Given the description of an element on the screen output the (x, y) to click on. 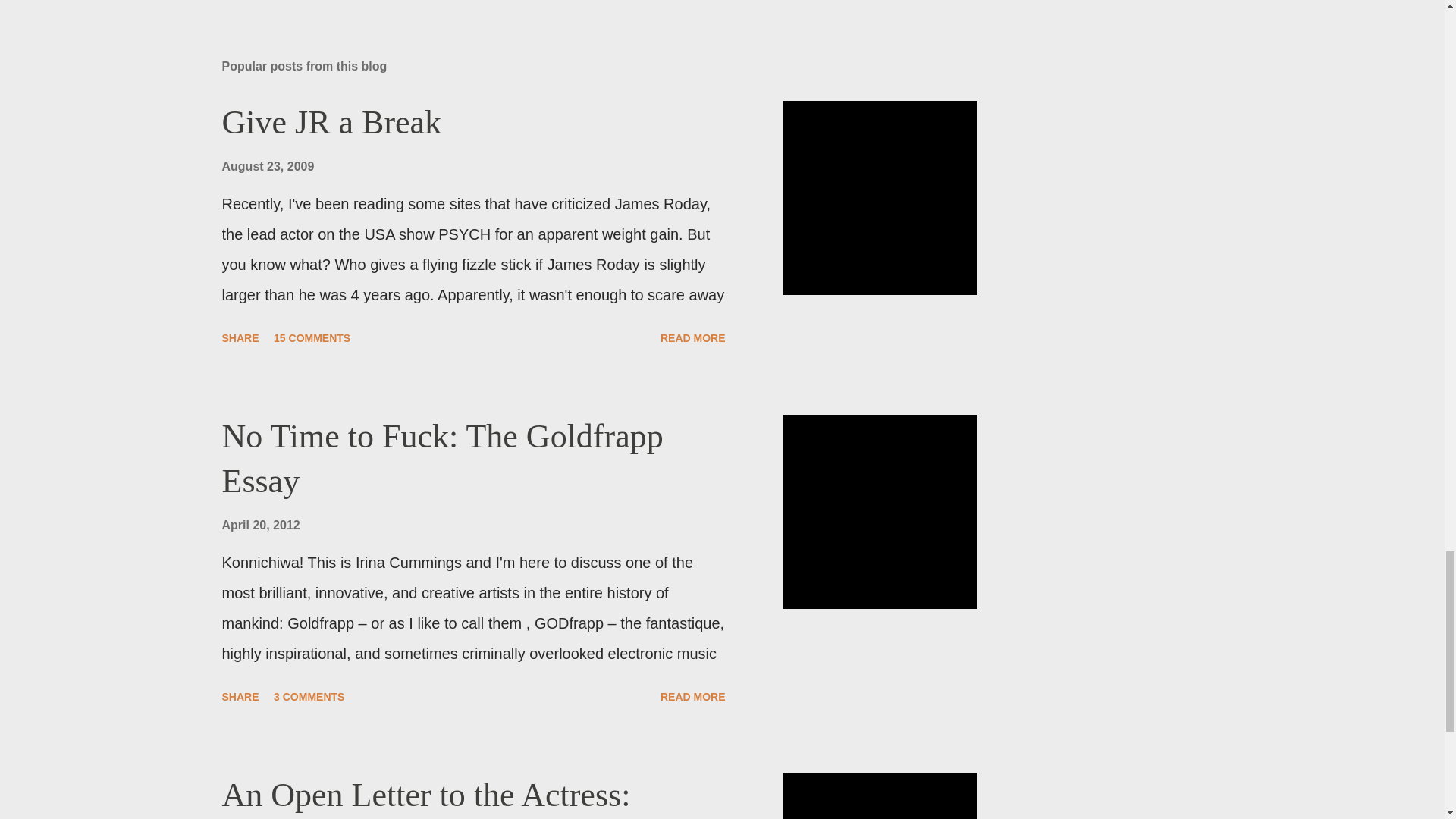
permanent link (267, 165)
